Given the description of an element on the screen output the (x, y) to click on. 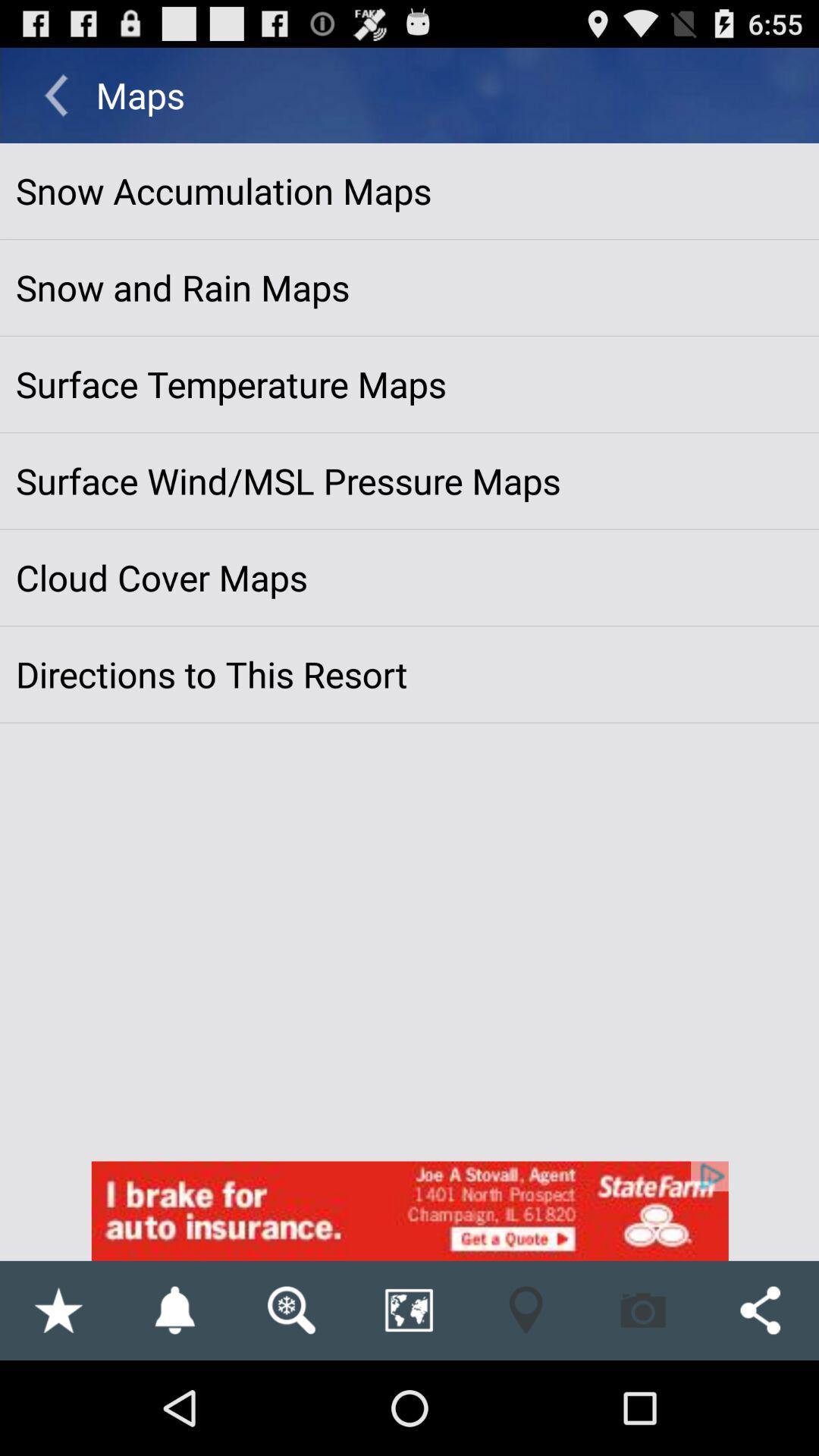
advertisement (409, 1210)
